Given the description of an element on the screen output the (x, y) to click on. 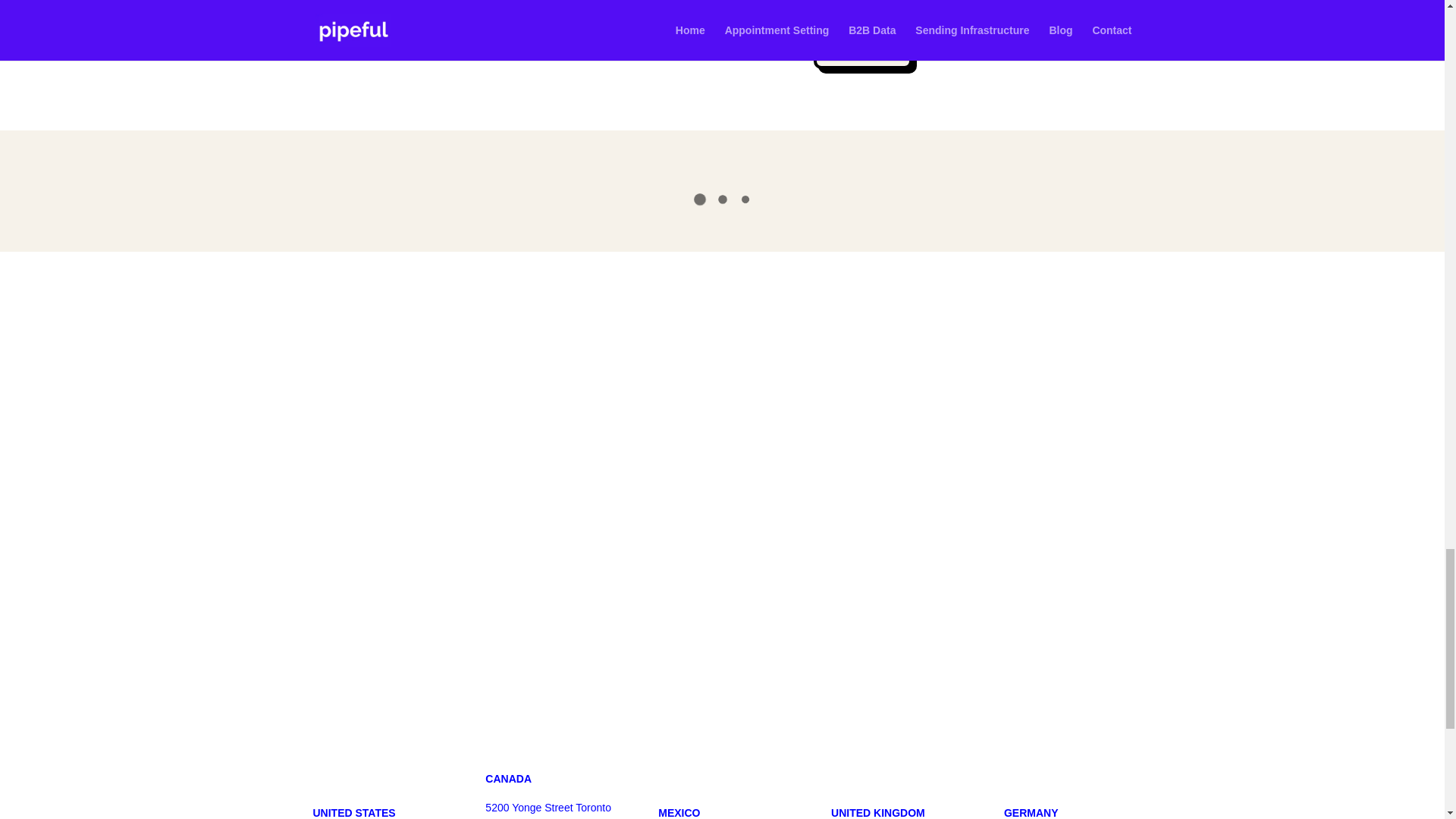
SUBMIT (862, 47)
